Given the description of an element on the screen output the (x, y) to click on. 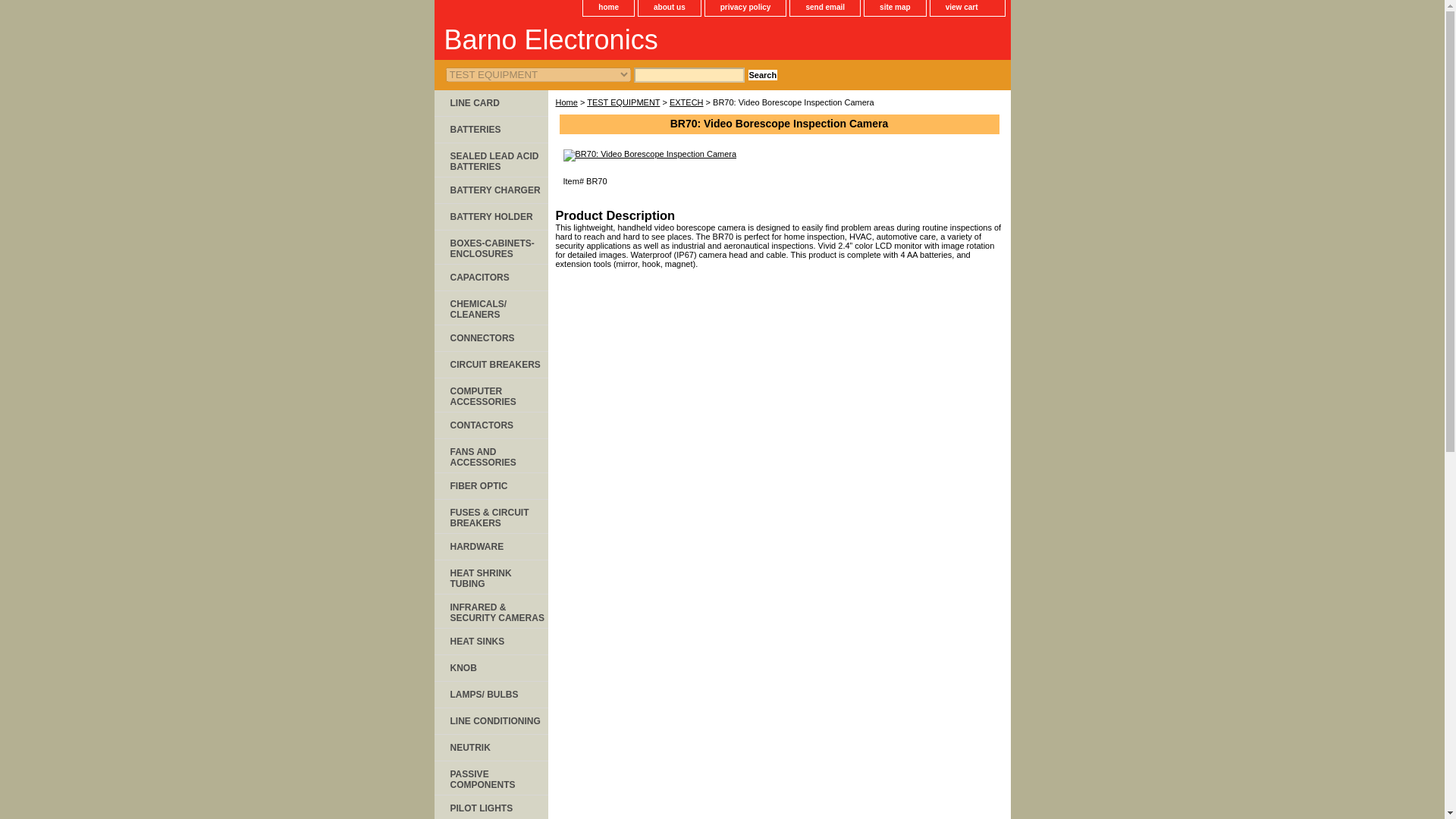
FIBER OPTIC (490, 486)
BATTERY HOLDER (490, 216)
CONNECTORS (490, 338)
HARDWARE (490, 546)
CIRCUIT BREAKERS (490, 365)
FIBER OPTIC (490, 486)
send email (825, 7)
HEAT SHRINK TUBING (490, 577)
SEALED LEAD ACID BATTERIES (490, 160)
about us (669, 7)
